Given the description of an element on the screen output the (x, y) to click on. 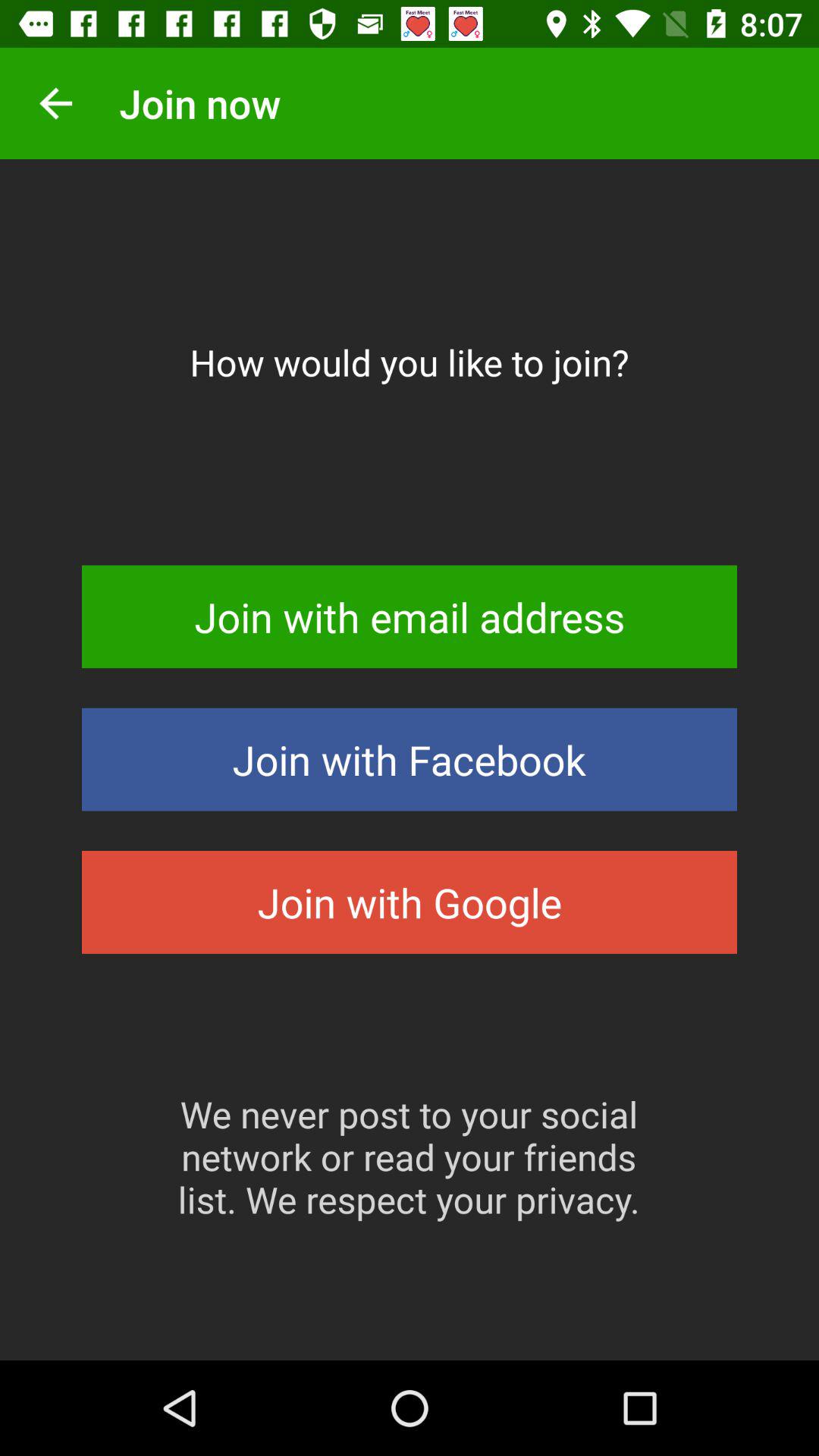
select the icon next to join now item (55, 103)
